Given the description of an element on the screen output the (x, y) to click on. 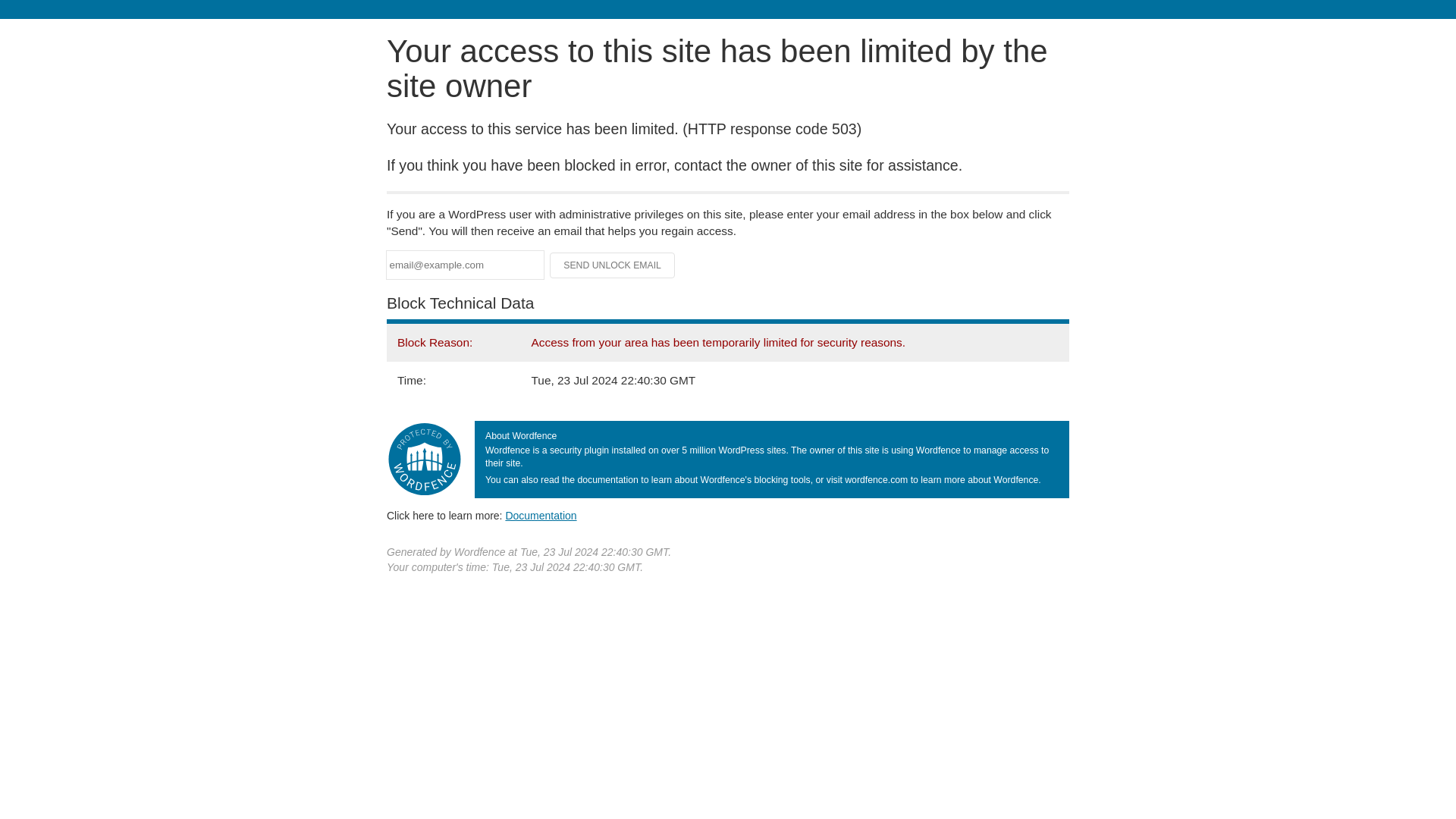
Send Unlock Email (612, 265)
Send Unlock Email (612, 265)
Documentation (540, 515)
